Given the description of an element on the screen output the (x, y) to click on. 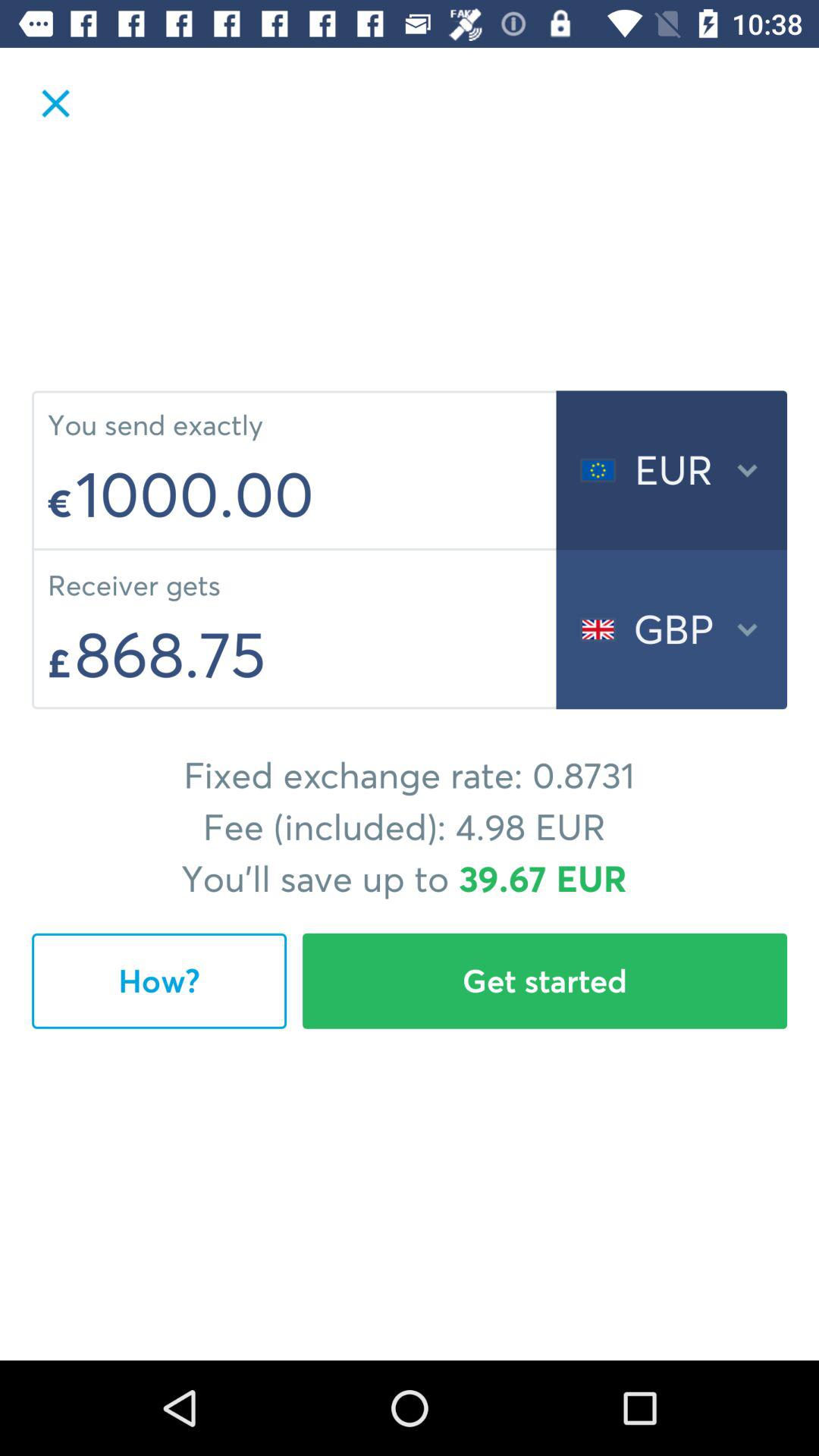
click the icon below the you send exactly (311, 493)
